Given the description of an element on the screen output the (x, y) to click on. 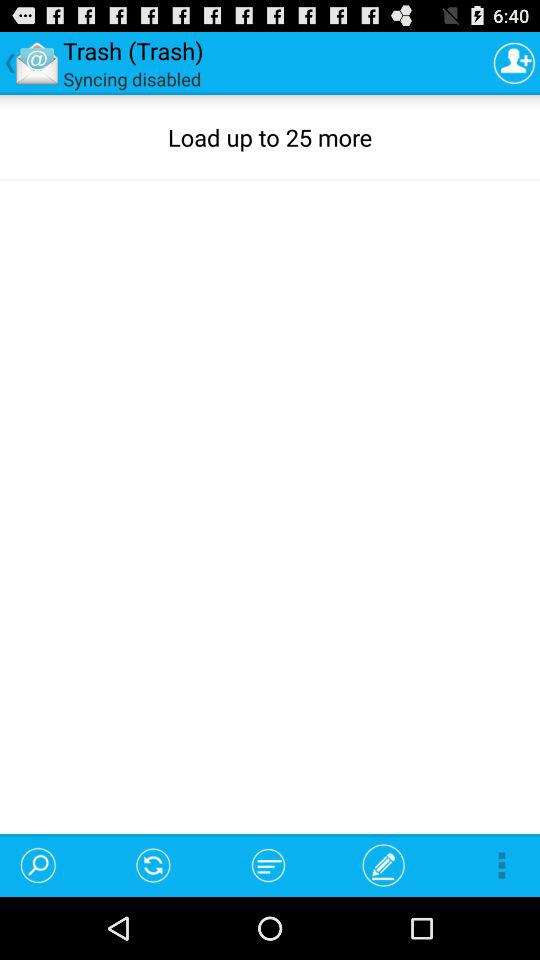
contat add (514, 62)
